Given the description of an element on the screen output the (x, y) to click on. 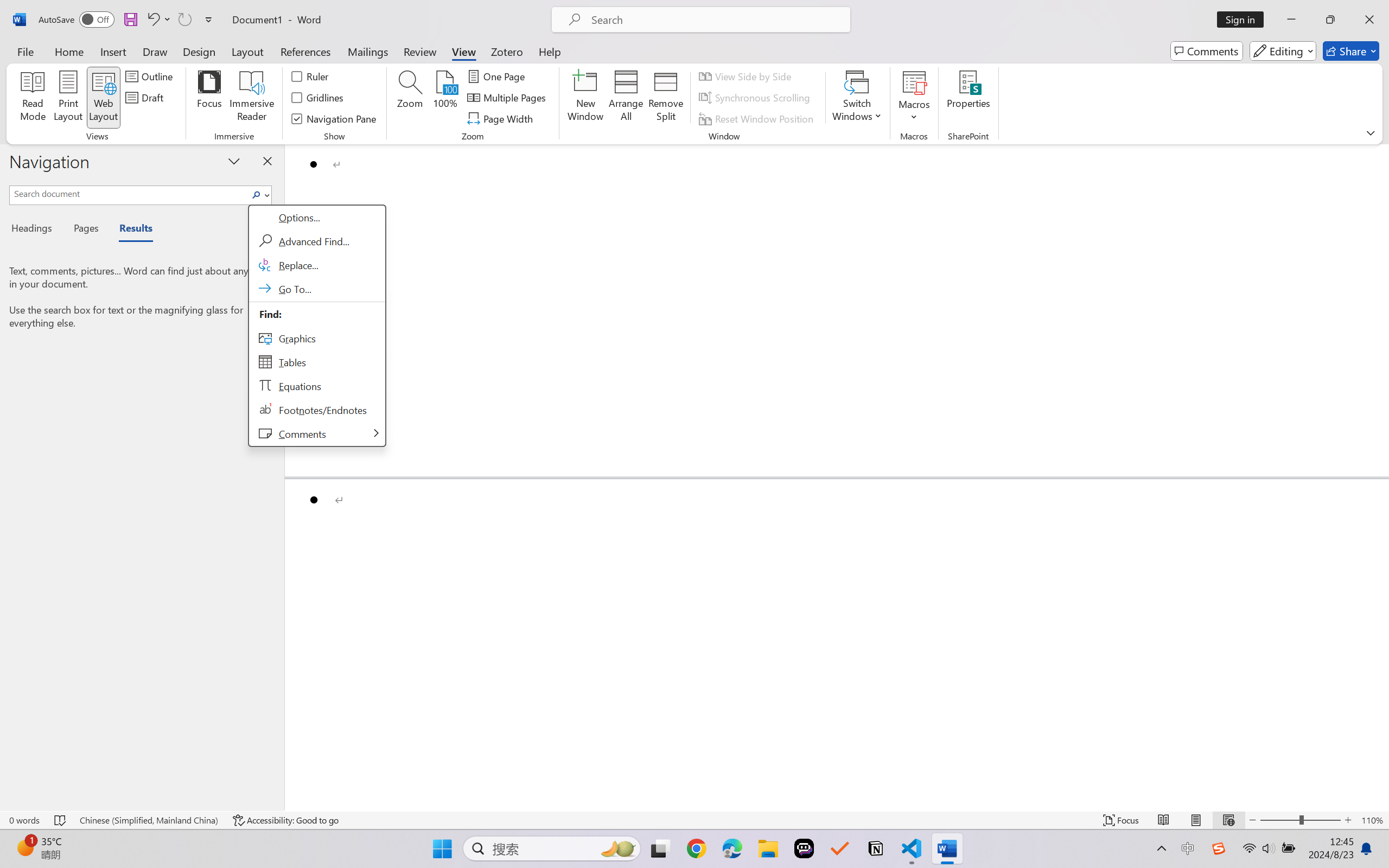
Undo Bullet Default (158, 19)
Arrange All (625, 97)
Synchronous Scrolling (755, 97)
